Given the description of an element on the screen output the (x, y) to click on. 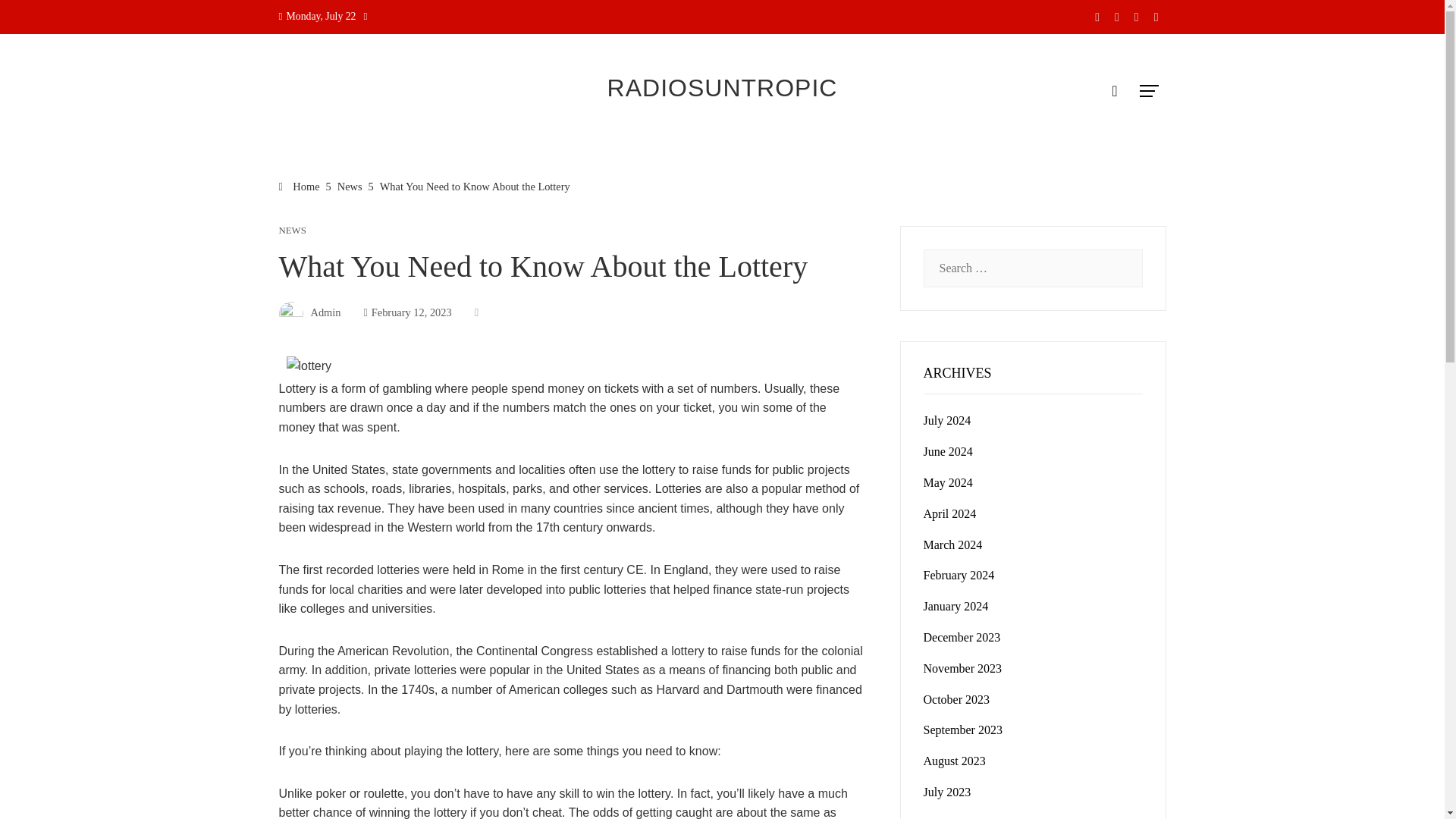
February 2024 (958, 574)
June 2023 (947, 817)
NEWS (292, 230)
October 2023 (956, 698)
News (349, 186)
September 2023 (963, 729)
Home (299, 186)
RADIOSUNTROPIC (722, 87)
March 2024 (952, 544)
Search (35, 18)
June 2024 (947, 451)
December 2023 (962, 636)
November 2023 (963, 667)
July 2023 (947, 791)
April 2024 (949, 513)
